Given the description of an element on the screen output the (x, y) to click on. 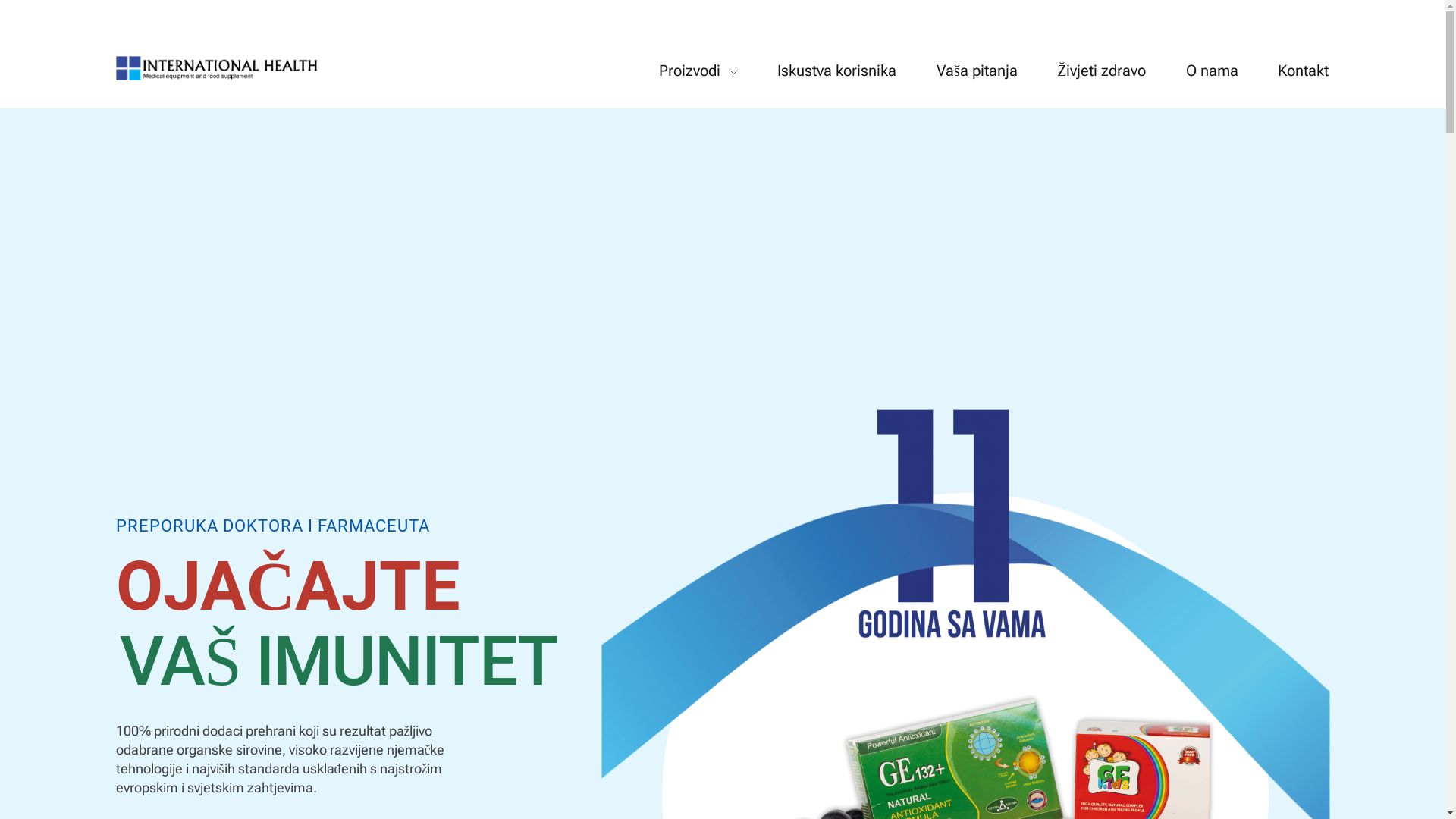
GE132 | International Health BiH Element type: text (271, 89)
Proizvodi Element type: text (707, 70)
O nama Element type: text (1212, 70)
Iskustva korisnika Element type: text (836, 70)
Kontakt Element type: text (1293, 70)
GE132 | International Health BiH Element type: hover (216, 68)
